Given the description of an element on the screen output the (x, y) to click on. 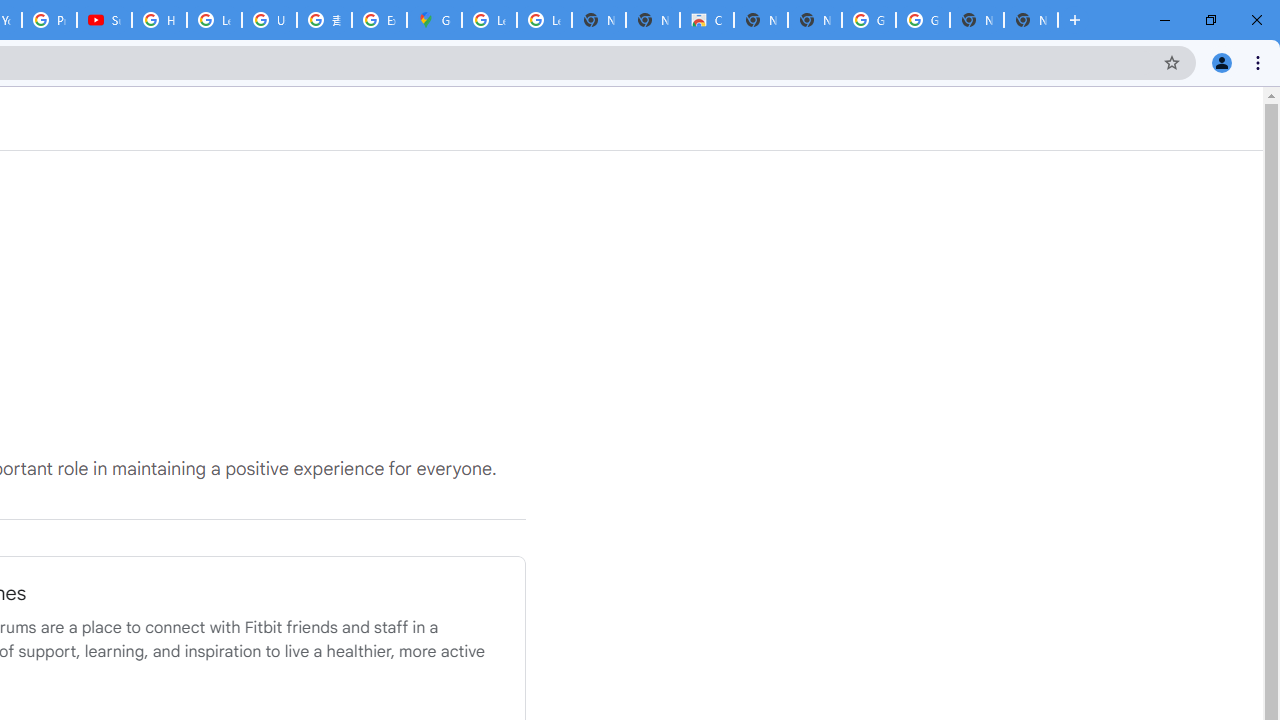
Google Maps (434, 20)
Chrome Web Store (706, 20)
Explore new street-level details - Google Maps Help (379, 20)
New Tab (1030, 20)
Subscriptions - YouTube (103, 20)
Google Images (922, 20)
